Given the description of an element on the screen output the (x, y) to click on. 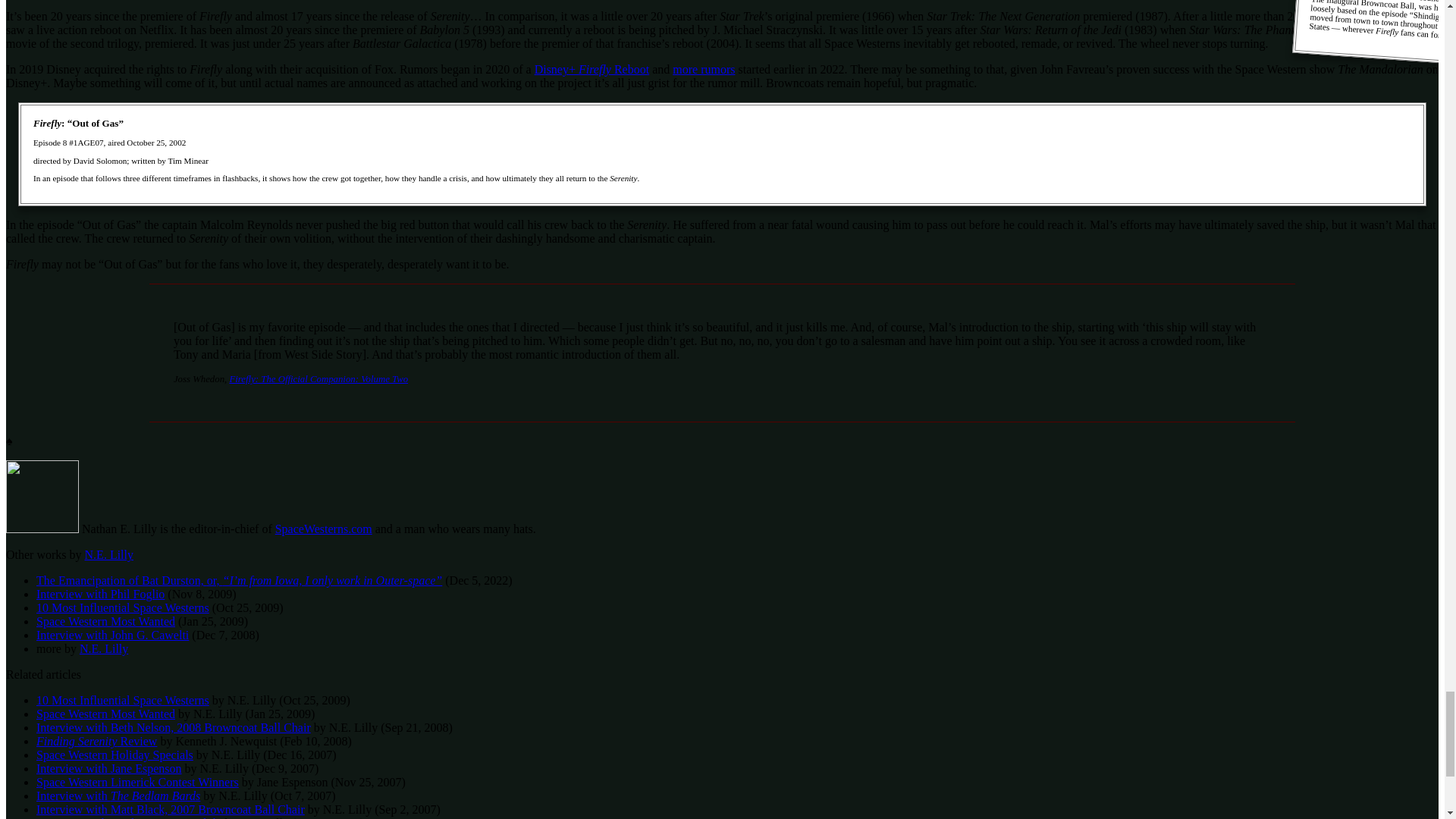
Interview with John G. Cawelti (112, 634)
10 Most Influential Space Westerns (122, 699)
Space Western Most Wanted (105, 713)
more rumors (703, 69)
Firefly: The Official Companion: Volume Two (317, 378)
Posts by N.E. Lilly (108, 554)
Space Western Most Wanted (105, 621)
SpaceWesterns.com (323, 528)
N.E. Lilly (104, 648)
